Given the description of an element on the screen output the (x, y) to click on. 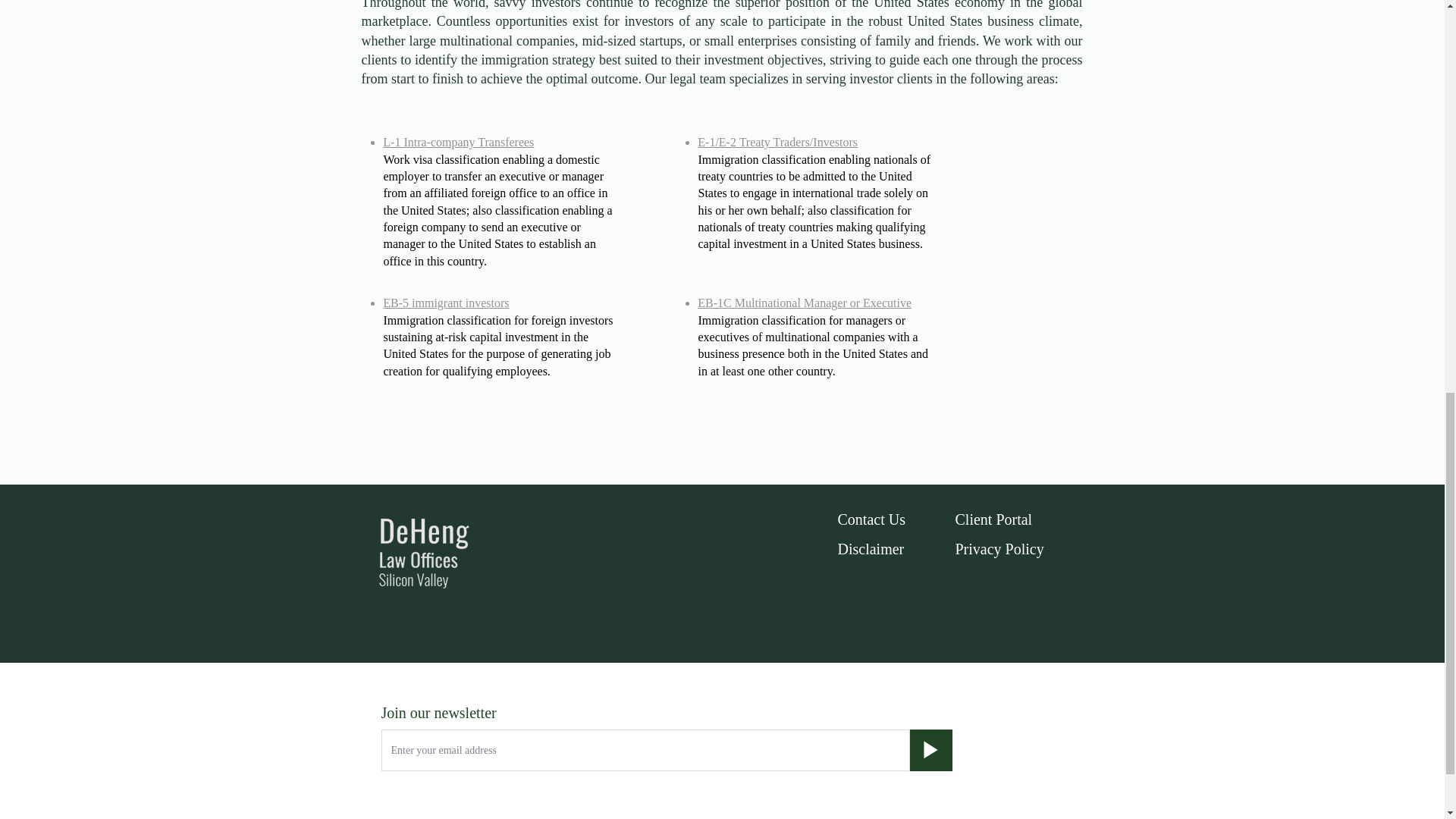
L-1 Intra-company Transferees (458, 141)
Contact Us (870, 519)
Privacy Policy (999, 548)
Disclaimer (870, 548)
EB-5 immigrant investors (445, 302)
EB-1C Multinational Manager or Executive (804, 302)
Client Portal (993, 519)
